Given the description of an element on the screen output the (x, y) to click on. 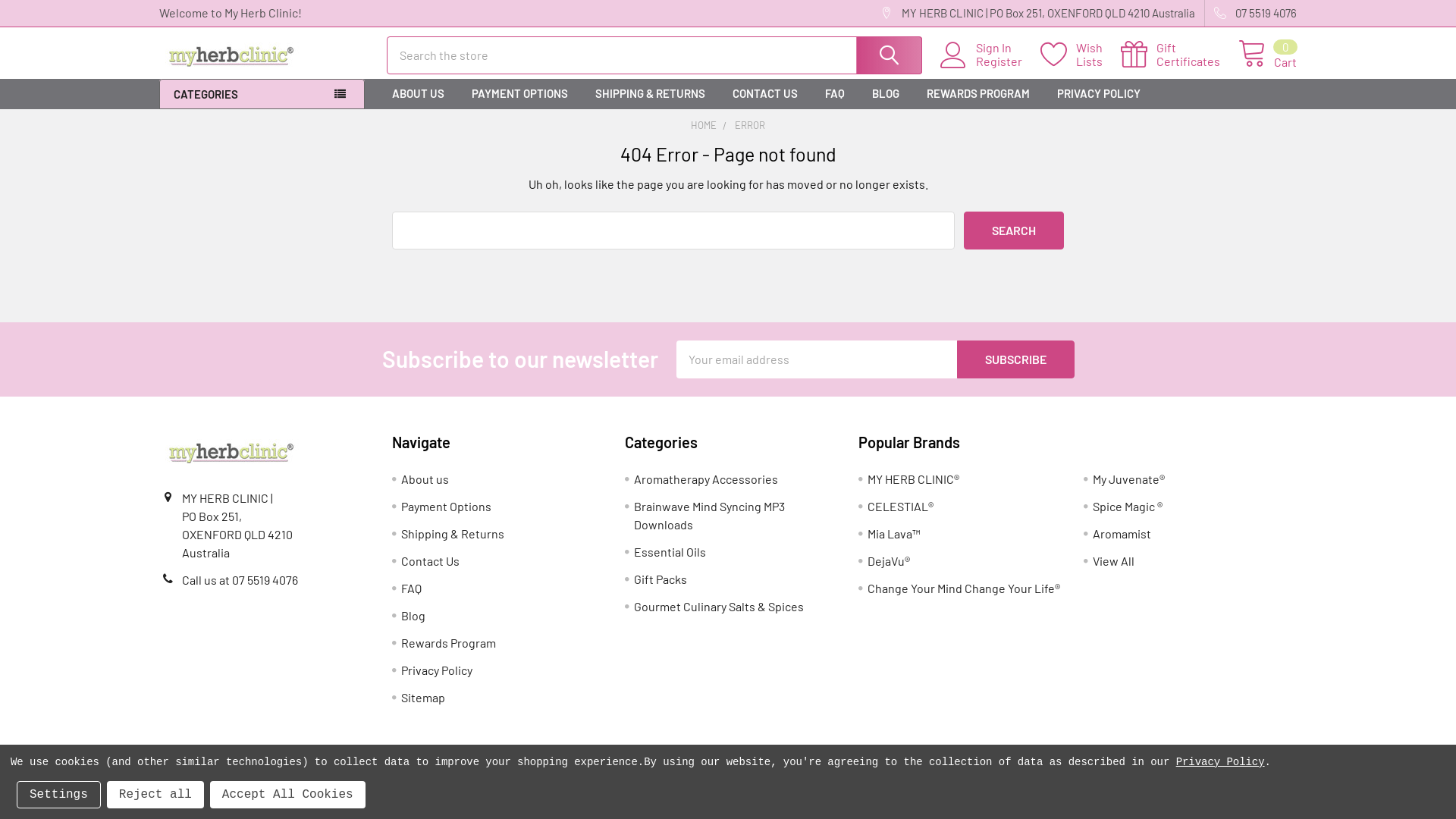
Wish
Lists Element type: text (1080, 54)
PRIVACY POLICY Element type: text (1098, 93)
Papathemes Element type: text (564, 782)
Top of Page Element type: hover (1428, 729)
Search Element type: text (1013, 230)
BLOG Element type: text (885, 93)
My Herb Clinic Element type: hover (231, 55)
Sitemap Element type: text (423, 697)
07 5519 4076 Element type: text (1250, 13)
Aromatherapy Accessories Element type: text (705, 478)
Contact Us Element type: text (430, 560)
SHIPPING & RETURNS Element type: text (649, 93)
FAQ Element type: text (834, 93)
Brainwave Mind Syncing MP3 Downloads Element type: text (708, 514)
My Herb Clinic Element type: hover (231, 451)
Gift
Certificates Element type: text (1179, 54)
Essential Oils Element type: text (669, 551)
Search Element type: text (887, 55)
Privacy Policy Element type: text (436, 669)
Payment Options Element type: text (446, 505)
Settings Element type: text (58, 794)
Call us at 07 5519 4076 Element type: text (240, 579)
BigCommerce Element type: text (382, 782)
ABOUT US Element type: text (418, 93)
Accept All Cookies Element type: text (287, 794)
Register Element type: text (1007, 61)
View All Element type: text (1113, 560)
CATEGORIES Element type: text (261, 93)
Subscribe Element type: text (1015, 359)
Rewards Program Element type: text (448, 642)
Blog Element type: text (413, 615)
About us Element type: text (424, 478)
HOME Element type: text (703, 125)
Aromamist Element type: text (1121, 533)
Shipping & Returns Element type: text (452, 533)
Gourmet Culinary Salts & Spices Element type: text (718, 606)
Gift Packs Element type: text (660, 578)
REWARDS PROGRAM Element type: text (978, 93)
FAQ Element type: text (411, 587)
Reject all Element type: text (154, 794)
Cart
0 Element type: text (1267, 54)
PAYMENT OPTIONS Element type: text (519, 93)
Privacy Policy Element type: text (1220, 762)
ERROR Element type: text (749, 125)
CONTACT US Element type: text (764, 93)
Sign In Element type: text (1007, 47)
